Given the description of an element on the screen output the (x, y) to click on. 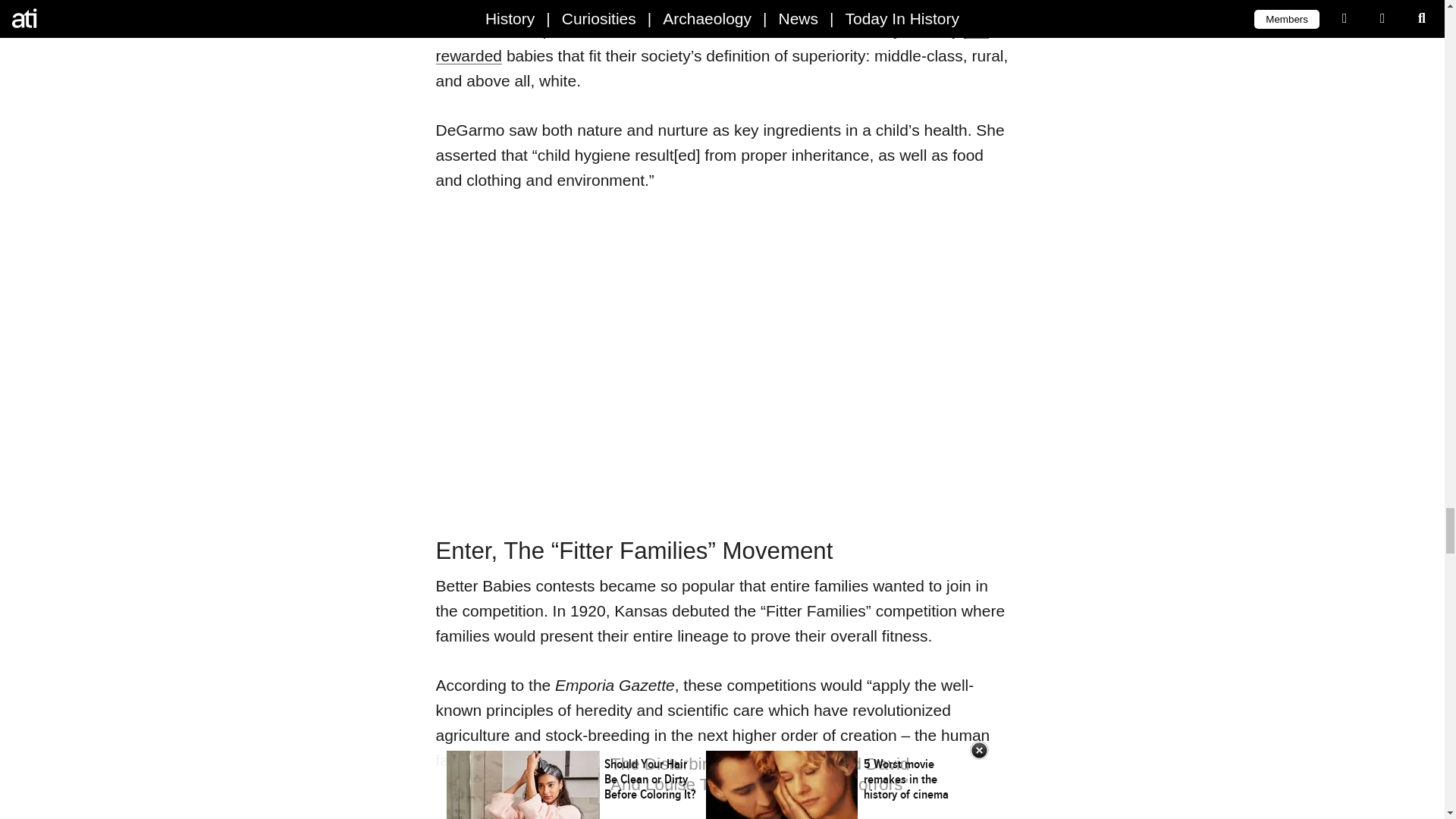
just rewarded (711, 42)
